Given the description of an element on the screen output the (x, y) to click on. 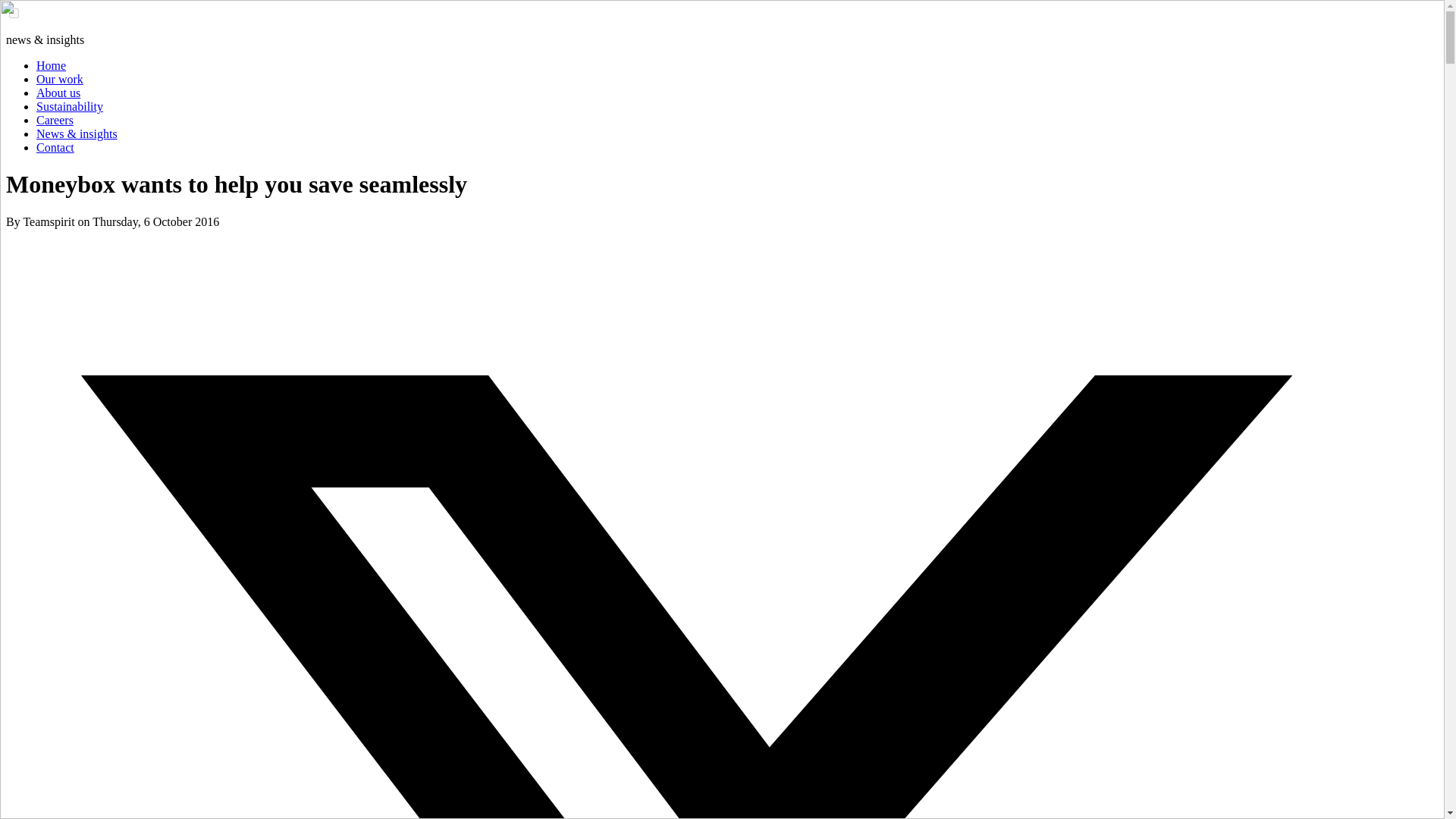
Our work (59, 78)
on (13, 13)
About us (58, 92)
Home (50, 65)
Contact (55, 146)
Careers (55, 119)
Sustainability (69, 106)
